Given the description of an element on the screen output the (x, y) to click on. 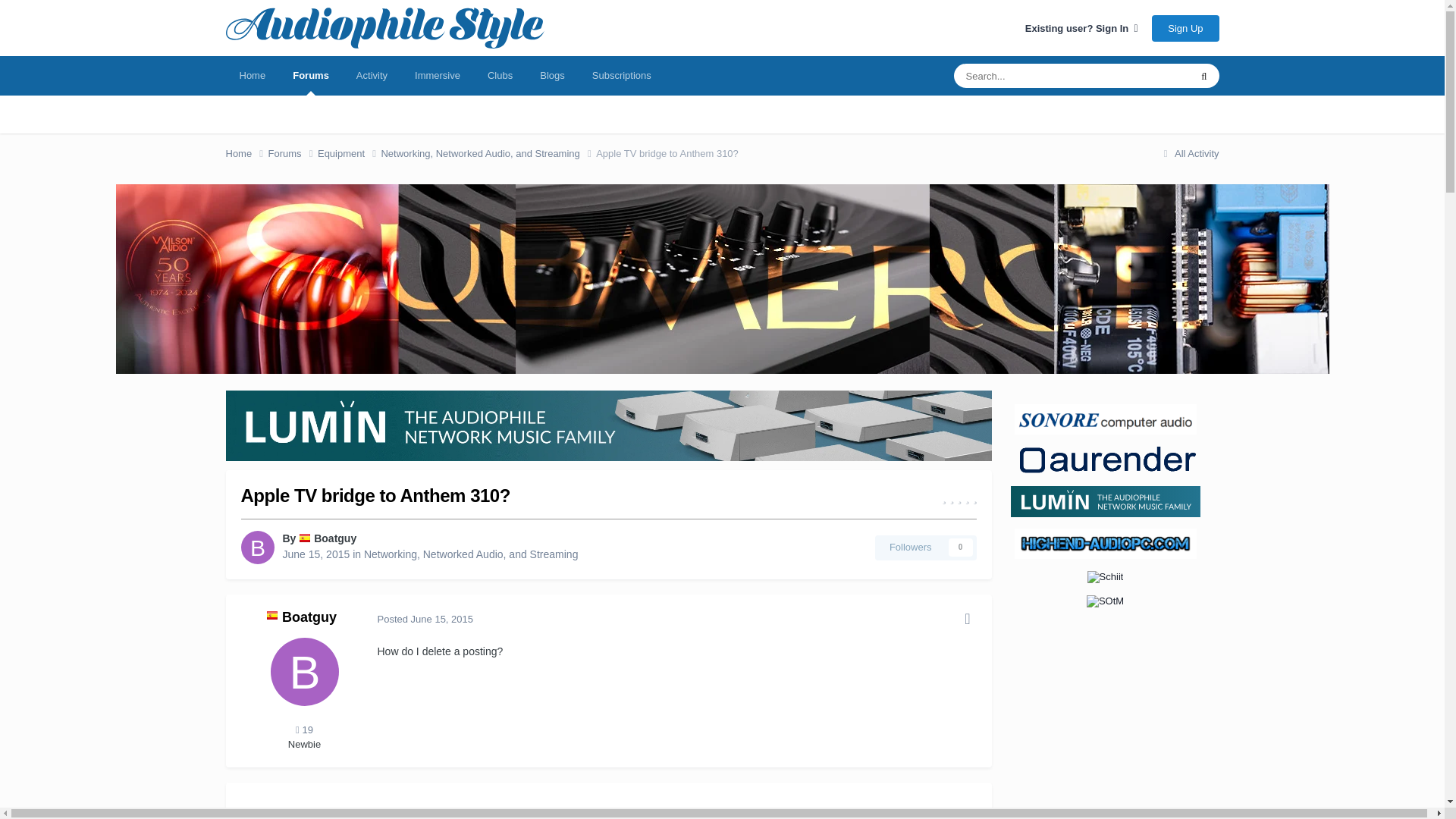
19 posts (304, 729)
Sign in to follow this (925, 547)
Forums (292, 153)
Blogs (551, 75)
Existing user? Sign In   (1081, 28)
Sign Up (1184, 28)
Equipment (349, 153)
Go to Boatguy's profile (303, 671)
Home (246, 153)
Go to Boatguy's profile (335, 538)
Forums (310, 75)
Activity (371, 75)
Go to Boatguy's profile (258, 547)
Home (252, 75)
Boatguy (335, 538)
